Given the description of an element on the screen output the (x, y) to click on. 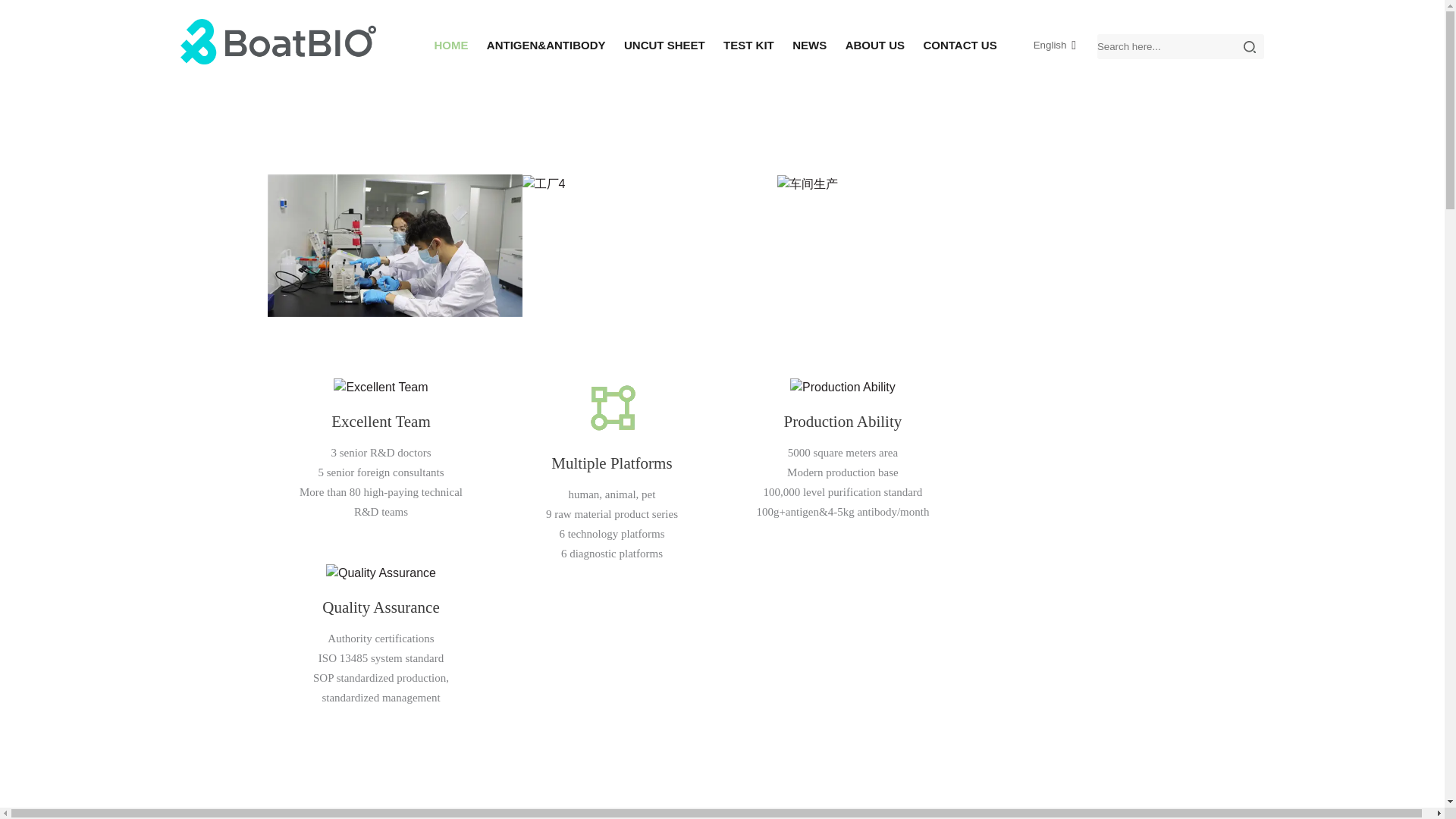
English (1038, 44)
UNCUT SHEET (664, 44)
TEST KIT (748, 44)
CONTACT US (959, 44)
ABOUT US (875, 44)
NEWS (809, 44)
HOME (451, 44)
